Given the description of an element on the screen output the (x, y) to click on. 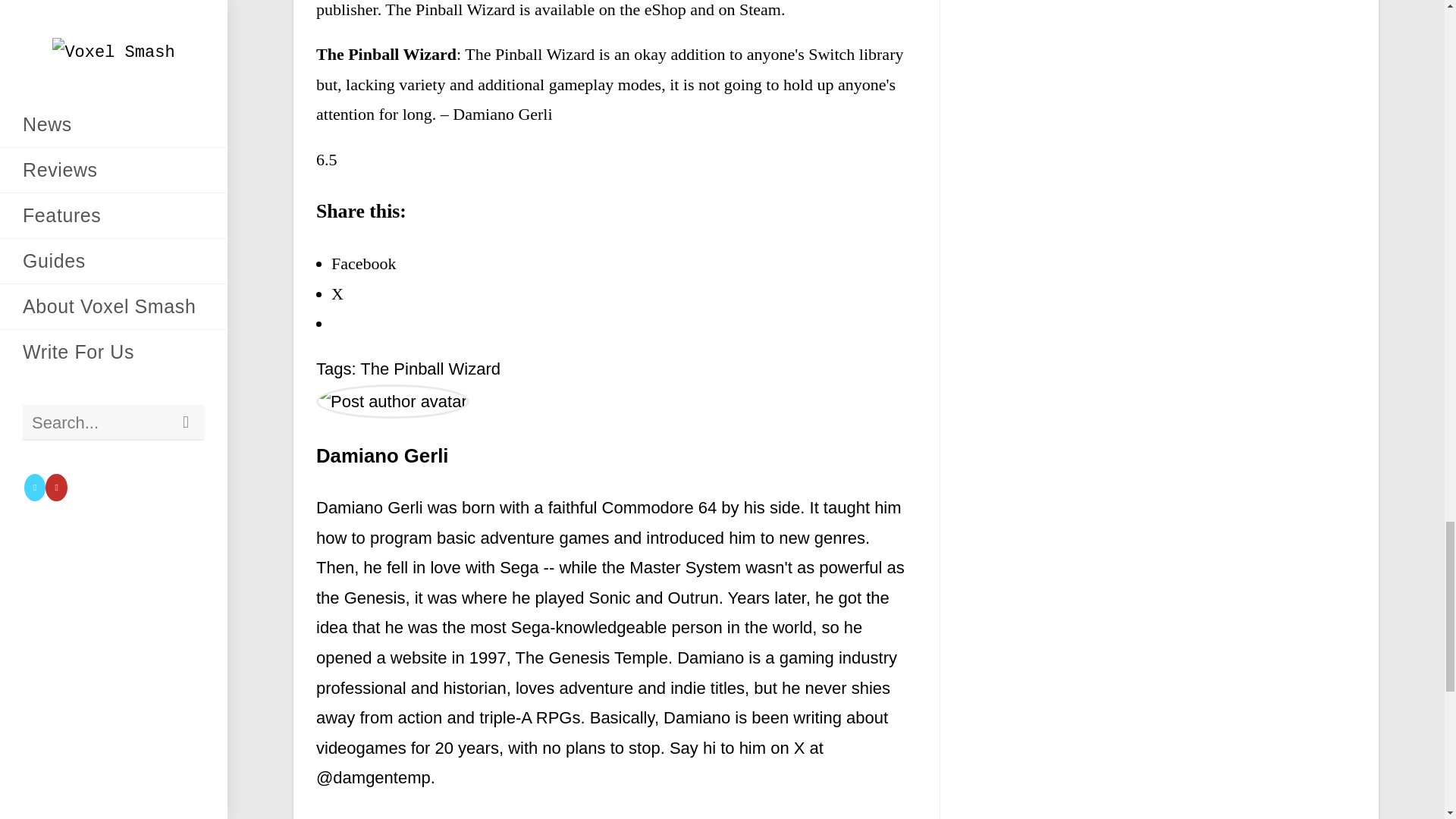
Click to share on Facebook (363, 262)
Facebook (363, 262)
Visit author page (381, 455)
Damiano Gerli (381, 455)
The Pinball Wizard (386, 54)
on Steam (748, 9)
The Pinball Wizard (429, 368)
Visit author page (391, 399)
